Given the description of an element on the screen output the (x, y) to click on. 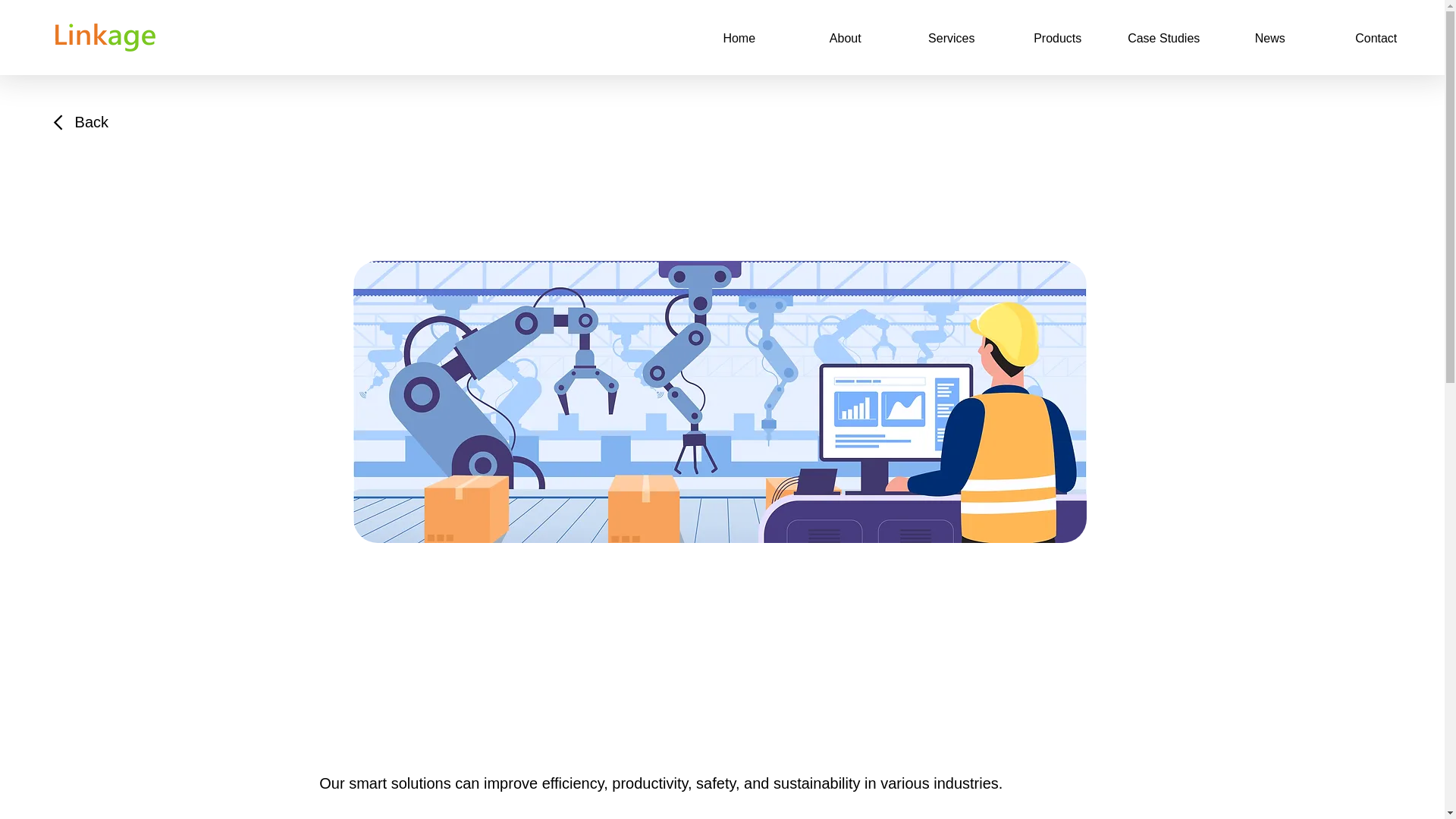
Services (951, 38)
Products (1057, 38)
About (845, 38)
Contact (1376, 38)
News (1270, 38)
Back (82, 121)
Case Studies (1163, 38)
Home (738, 38)
